Given the description of an element on the screen output the (x, y) to click on. 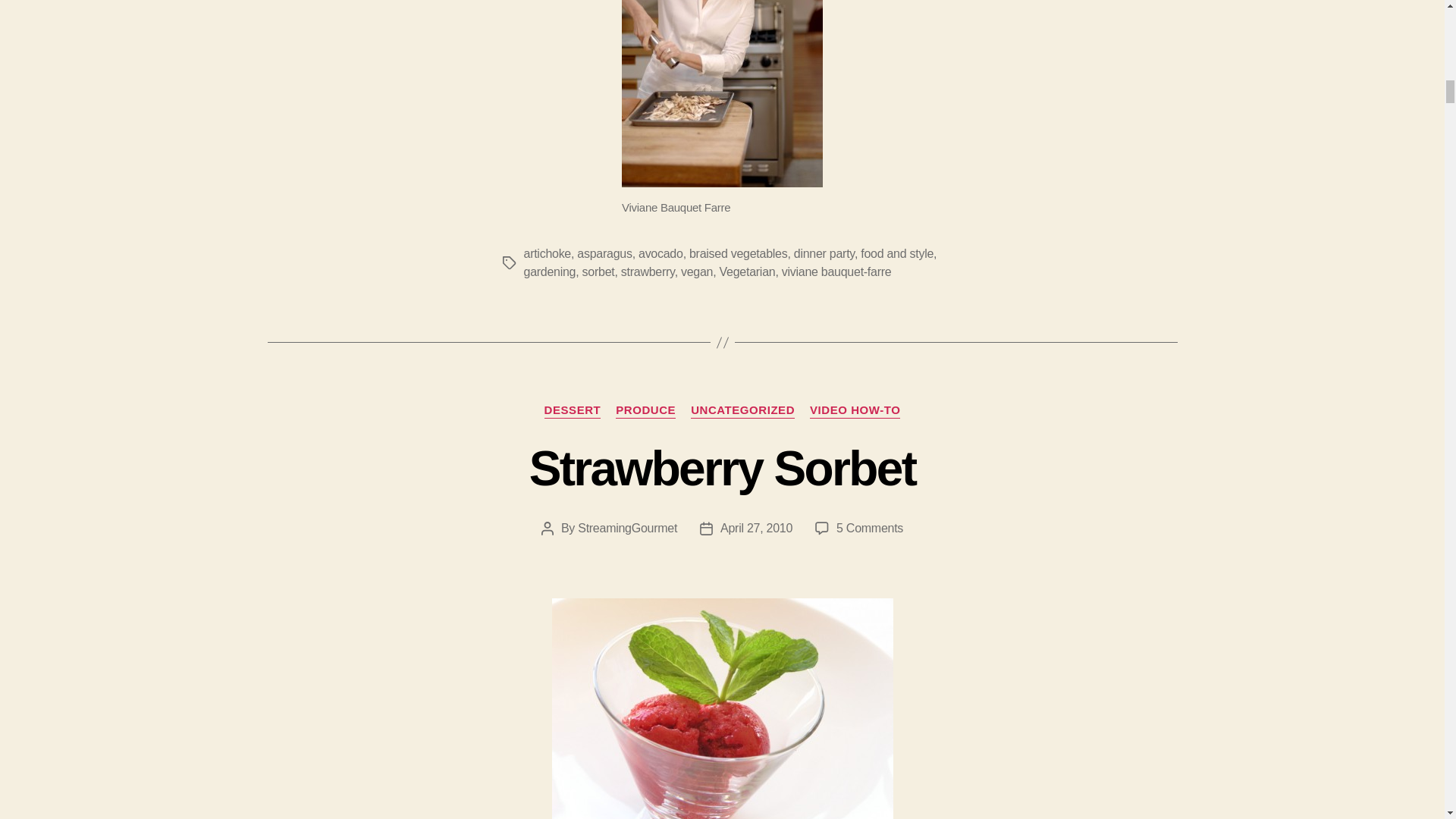
Viviane-pepper mill-low res (721, 93)
P4235210 (722, 708)
